Given the description of an element on the screen output the (x, y) to click on. 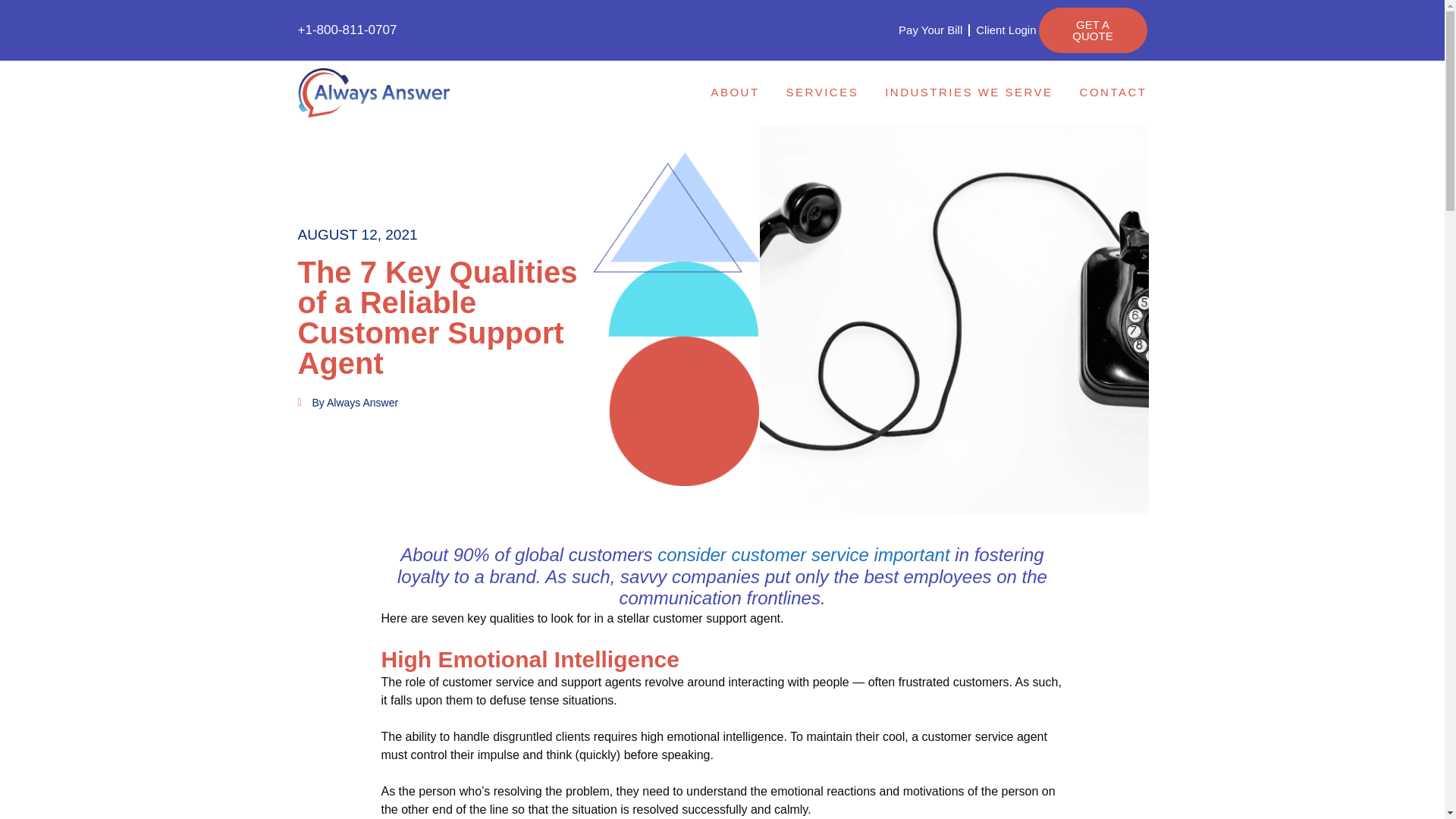
CONTACT (1113, 91)
SERVICES (826, 91)
INDUSTRIES WE SERVE (972, 91)
GET A QUOTE (1093, 30)
Pay Your Bill (929, 30)
ABOUT (738, 91)
Client Login (1006, 30)
